Given the description of an element on the screen output the (x, y) to click on. 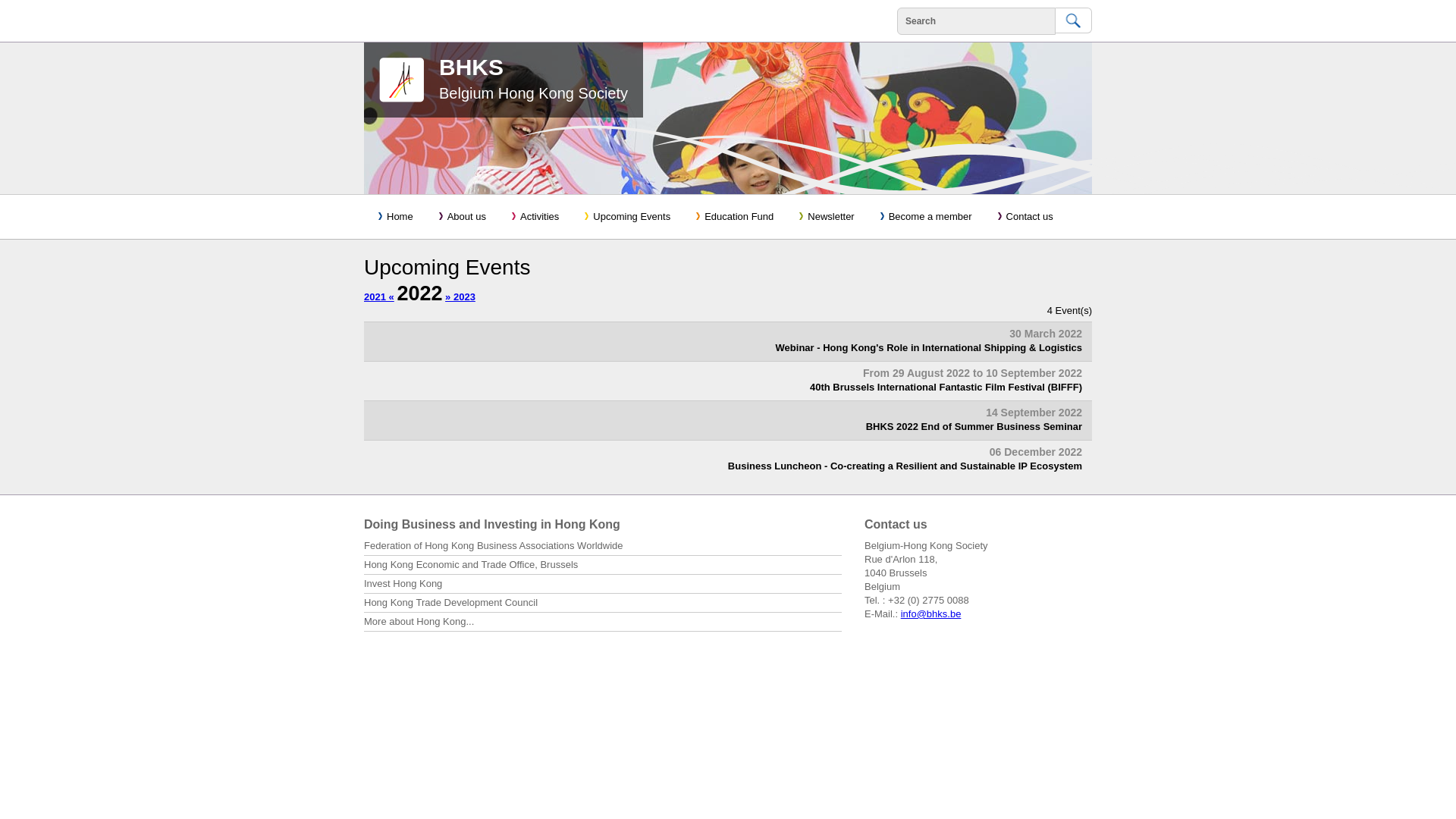
info@bhks.be Element type: text (930, 613)
Education Fund Element type: text (732, 216)
Home Element type: text (394, 216)
Become a member Element type: text (924, 216)
Invest Hong Kong Element type: text (602, 585)
Newsletter Element type: text (824, 216)
Activities Element type: text (533, 216)
Federation of Hong Kong Business Associations Worldwide Element type: text (602, 547)
Upcoming Events Element type: text (625, 216)
Hong Kong Trade Development Council Element type: text (602, 604)
Contact us Element type: text (1023, 216)
About us Element type: text (460, 216)
More about Hong Kong... Element type: text (602, 623)
Hong Kong Economic and Trade Office, Brussels Element type: text (602, 566)
